Given the description of an element on the screen output the (x, y) to click on. 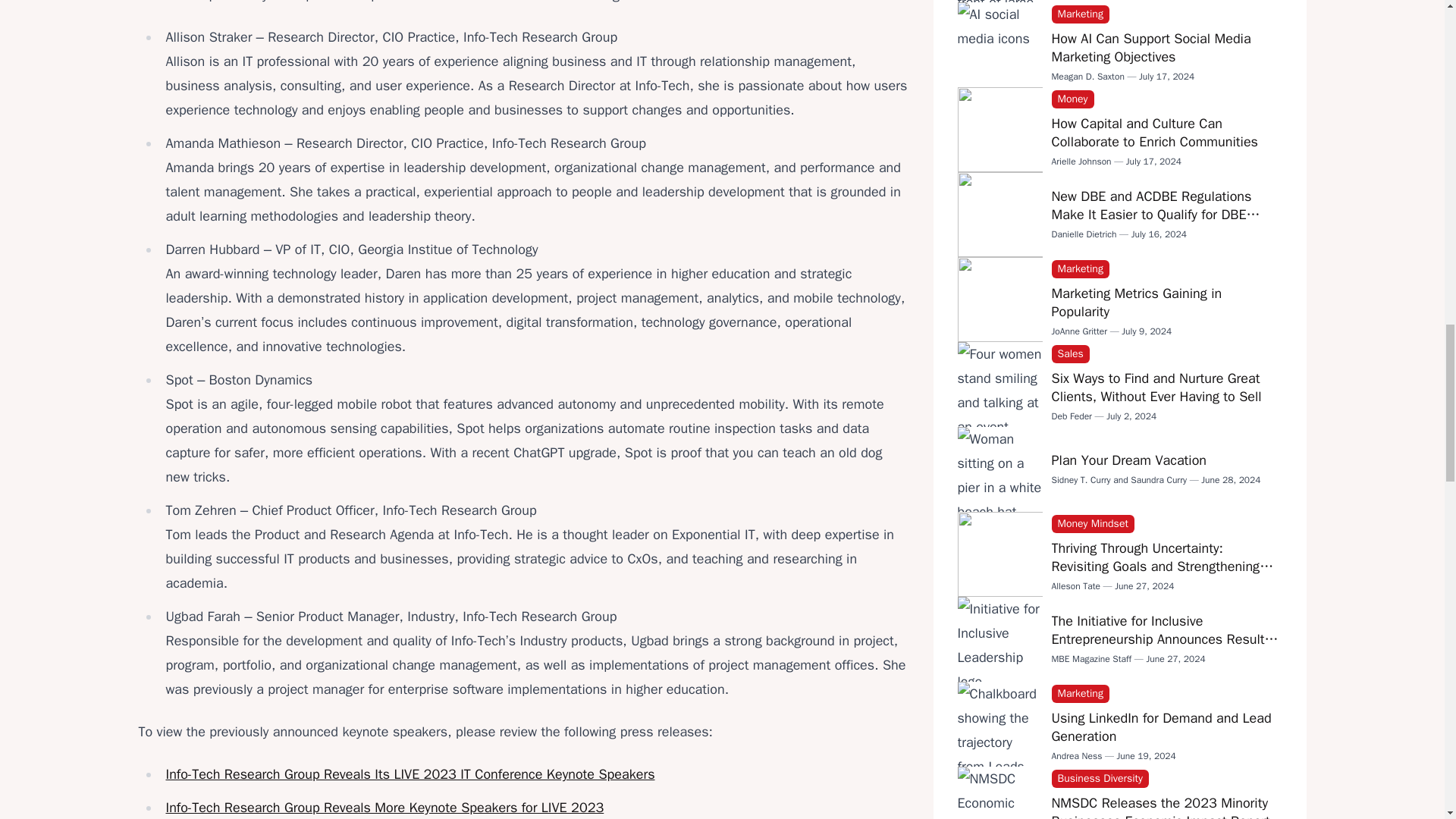
Marketing Metrics Gaining in Popularity (1136, 302)
How AI Can Support Social Media Marketing Objectives (1150, 47)
Plan Your Dream Vacation (1129, 460)
Using LinkedIn for Demand and Lead Generation (1161, 727)
